Given the description of an element on the screen output the (x, y) to click on. 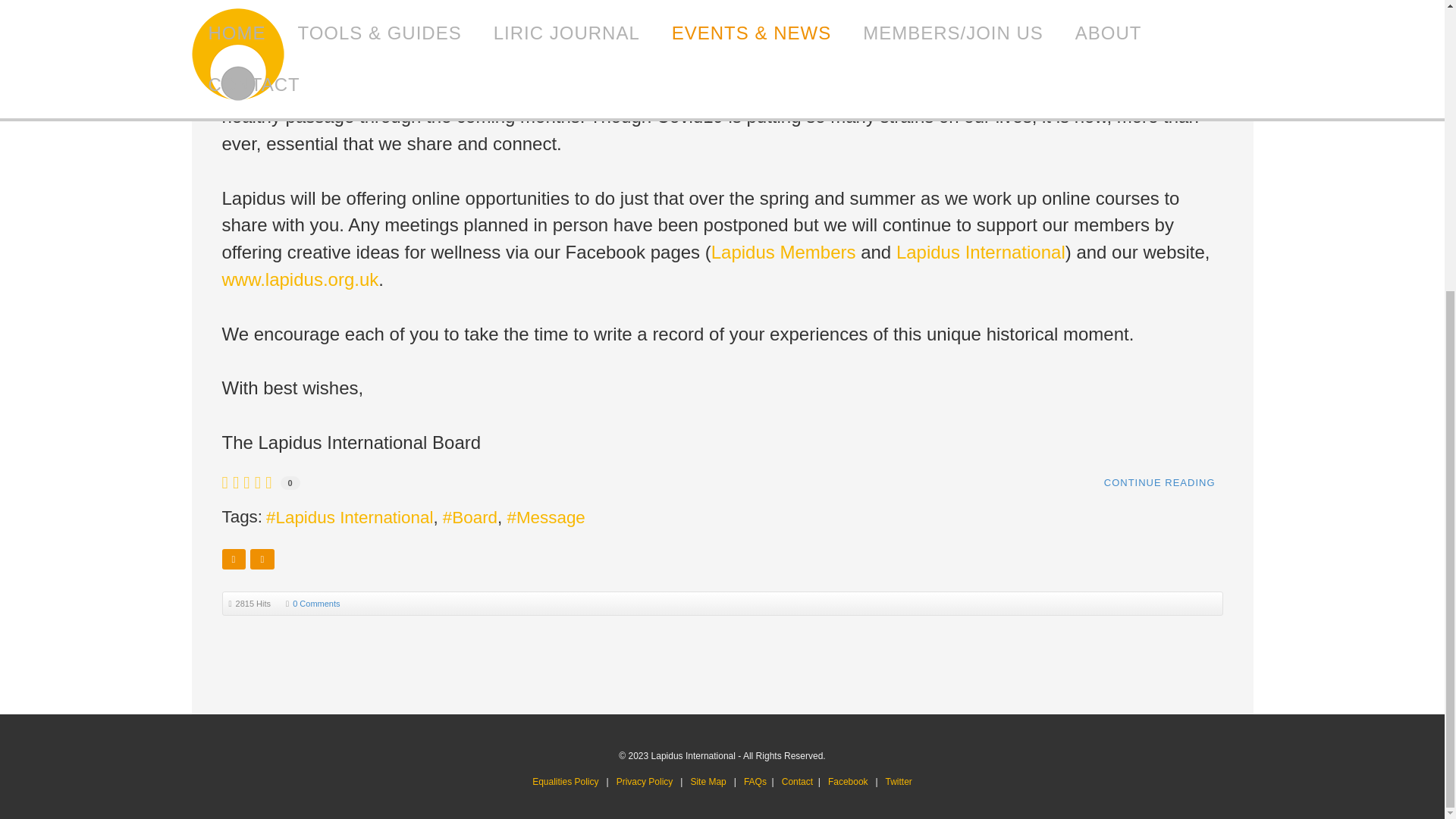
0 votes (290, 482)
